Given the description of an element on the screen output the (x, y) to click on. 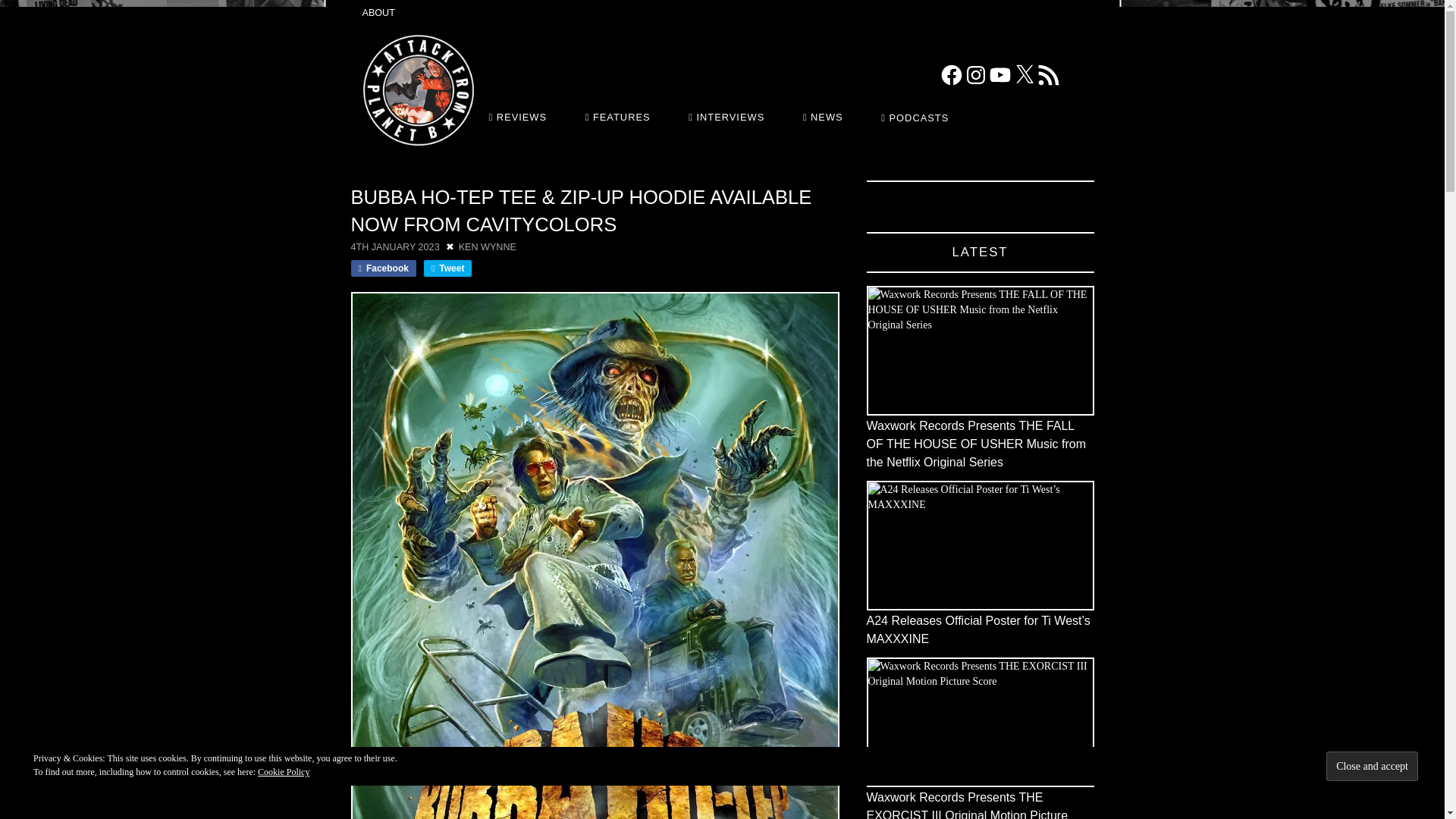
Comedy (361, 173)
Instagram (974, 74)
4TH JANUARY 2023 (394, 246)
RSS Feed (1047, 74)
Fantasy (385, 173)
FEATURES (619, 117)
Close and accept (1372, 766)
Facebook (950, 74)
Attack from Planet B (417, 90)
YouTube (999, 74)
